Given the description of an element on the screen output the (x, y) to click on. 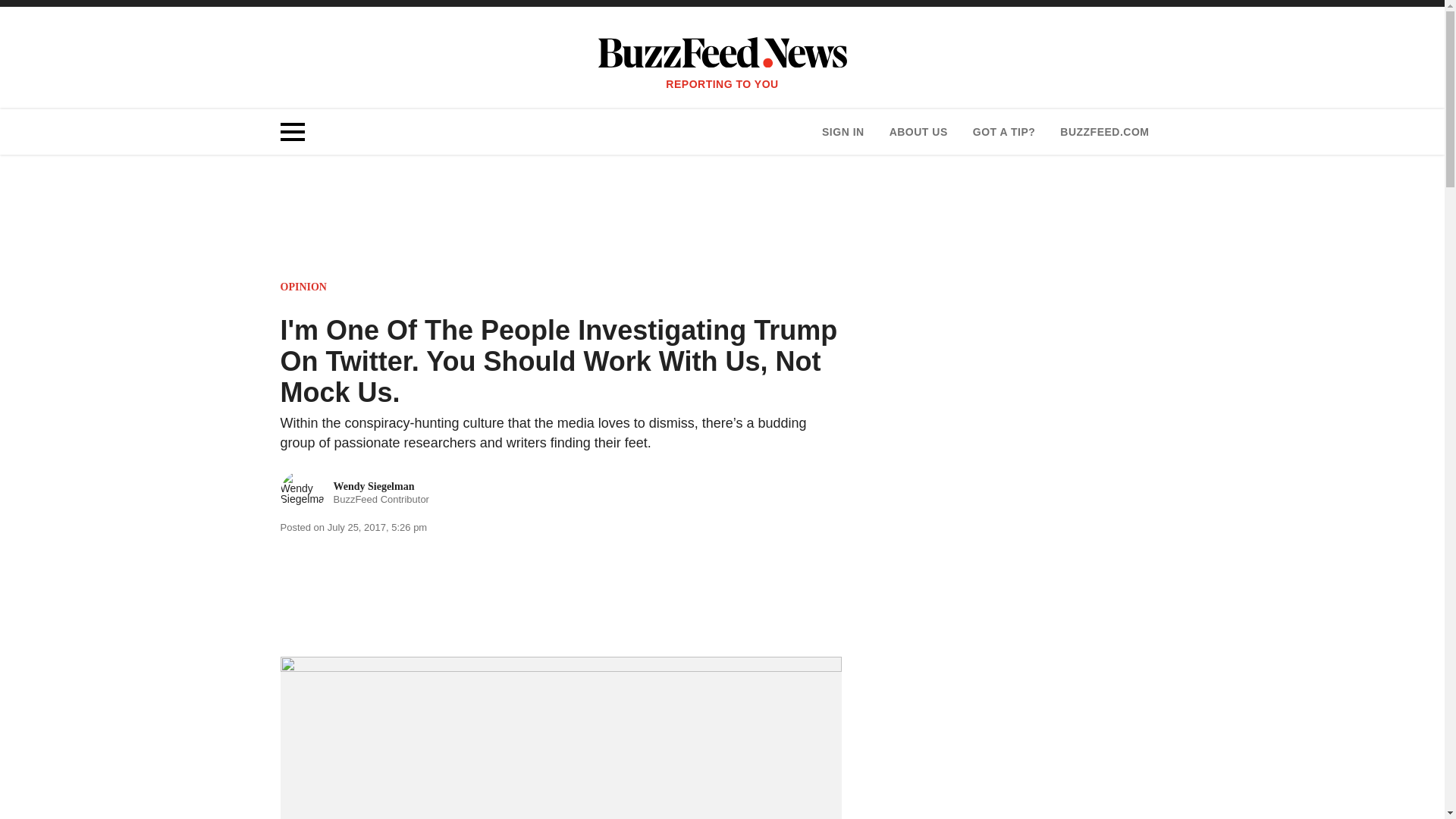
SIGN IN (842, 131)
BUZZFEED.COM (1103, 131)
ABOUT US (917, 131)
OPINION (355, 492)
GOT A TIP? (303, 286)
